Given the description of an element on the screen output the (x, y) to click on. 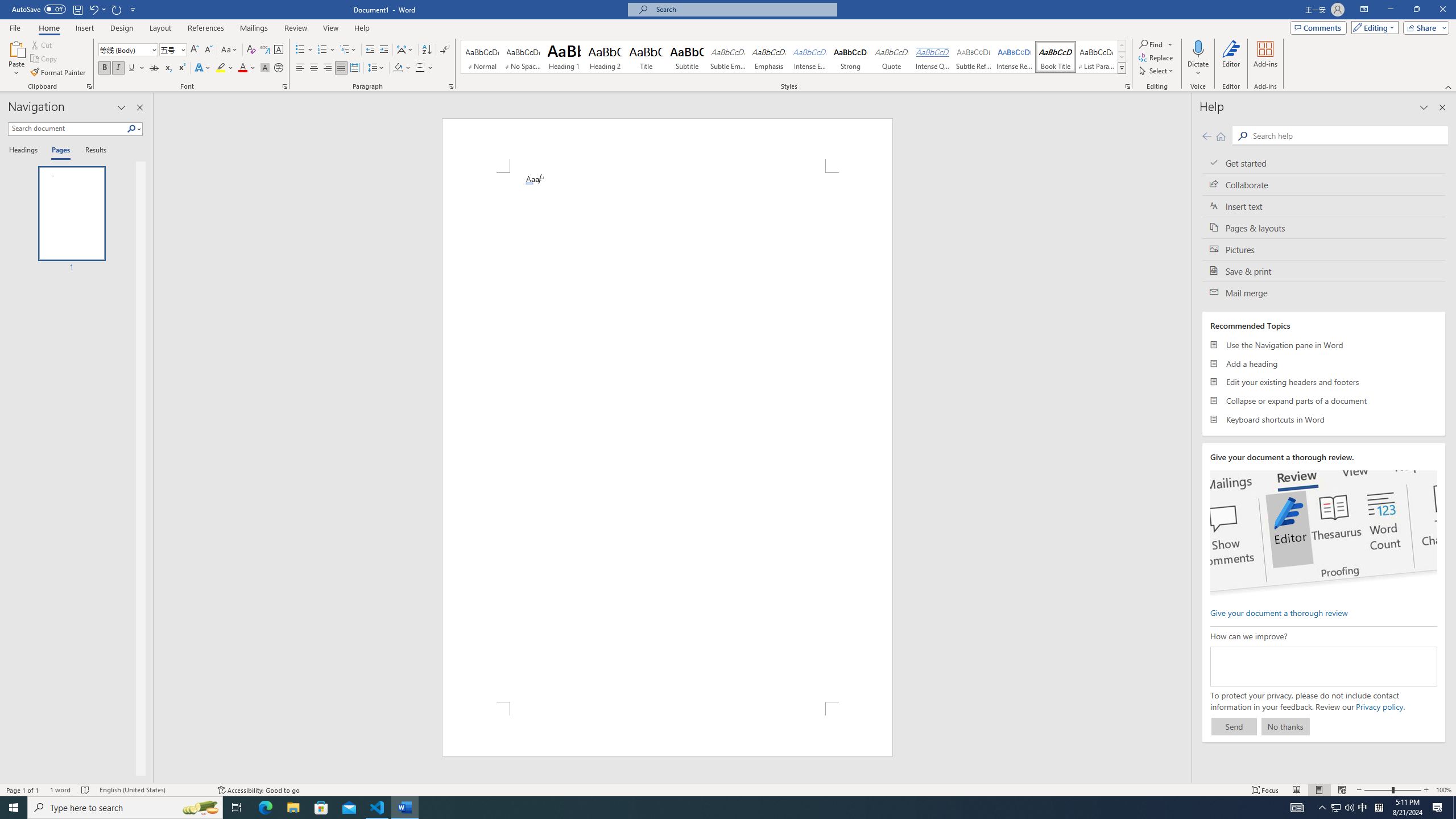
Font Color Red (241, 67)
Privacy policy (1379, 706)
Replace... (1156, 56)
Pictures (1323, 249)
Save & print (1323, 270)
Zoom 100% (1443, 790)
